Given the description of an element on the screen output the (x, y) to click on. 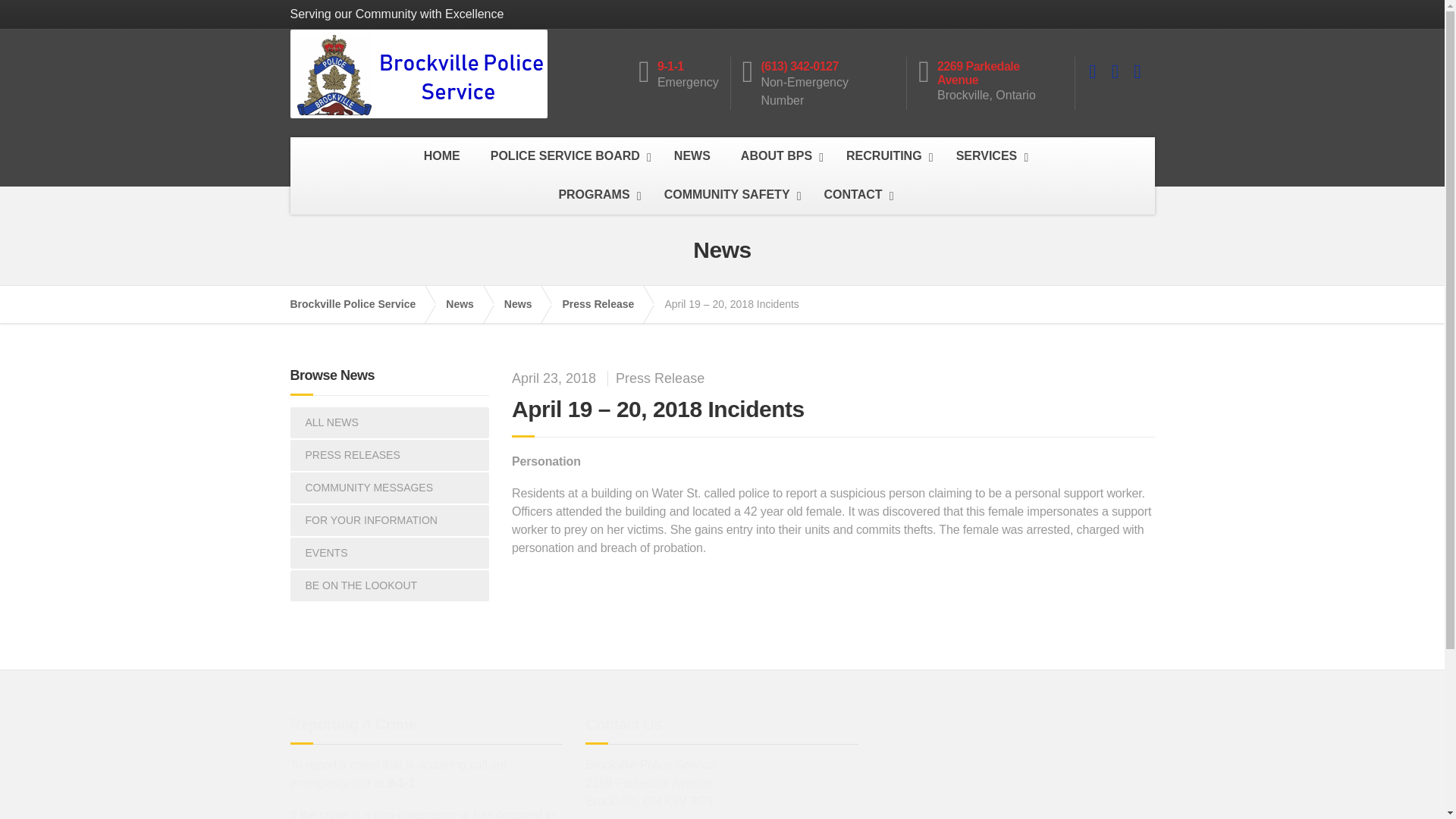
Recruiting (885, 156)
fa-twitter (1114, 70)
Contact (855, 195)
fa-instagram (1136, 70)
Go to Brockville Police Service. (359, 303)
Police Service Board (567, 156)
fa-facebook (1092, 70)
SERVICES (988, 156)
About BPS (778, 156)
HOME (442, 156)
POLICE SERVICE BOARD (567, 156)
NEWS (692, 156)
RECRUITING (885, 156)
